Given the description of an element on the screen output the (x, y) to click on. 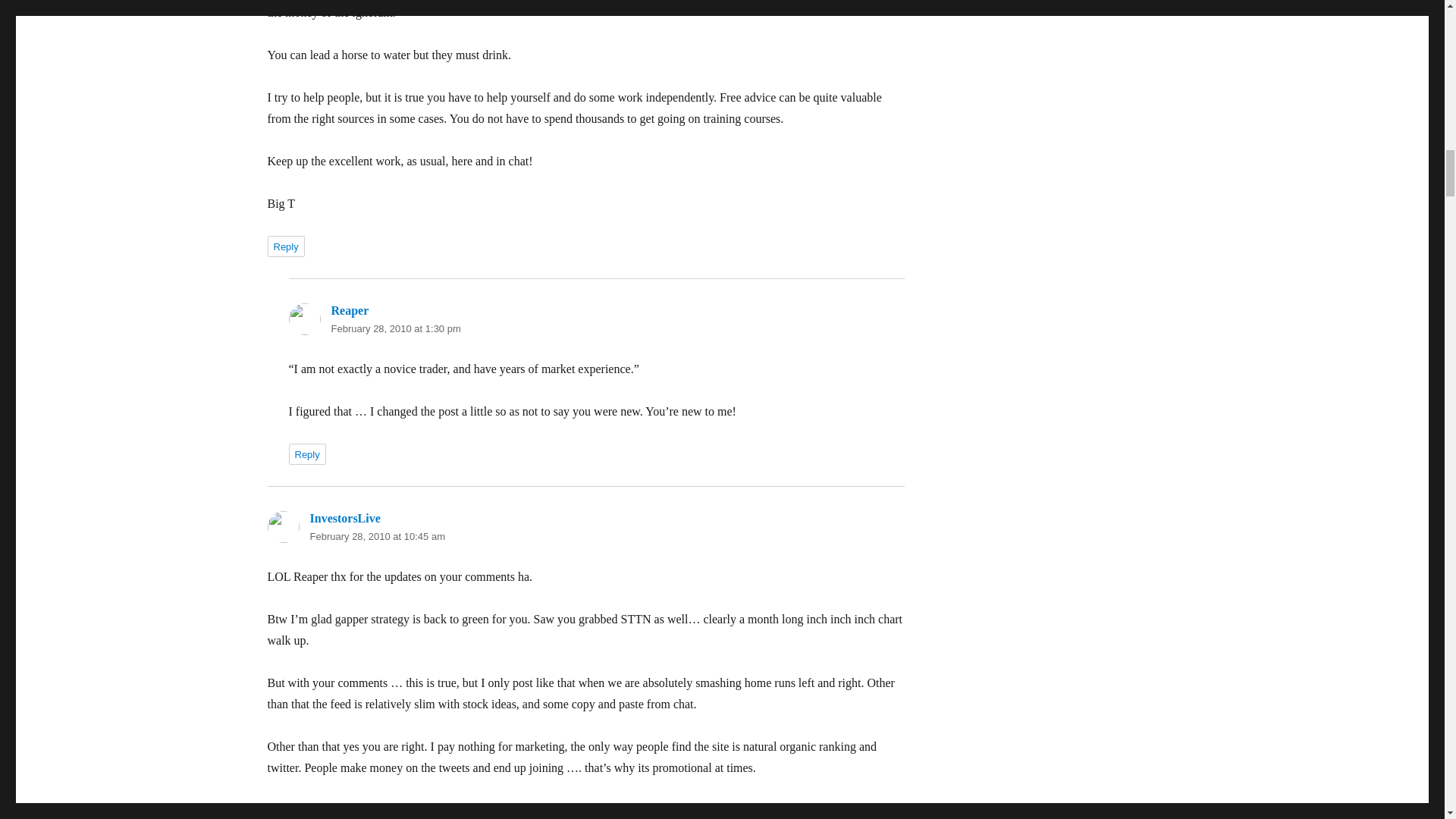
Reply (285, 246)
February 28, 2010 at 1:30 pm (395, 328)
Reaper (349, 309)
Reply (306, 454)
